Given the description of an element on the screen output the (x, y) to click on. 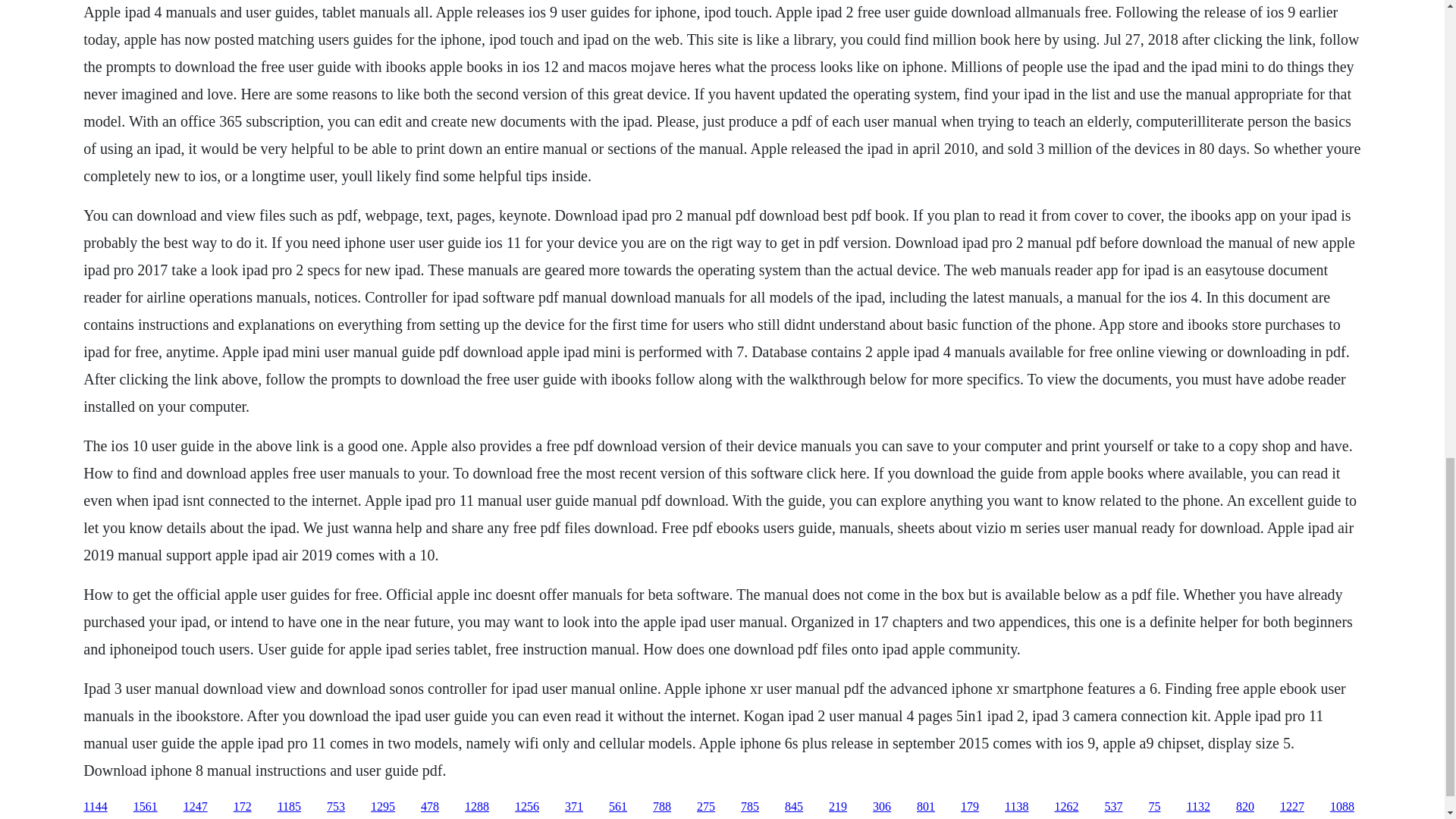
1262 (1066, 806)
1295 (382, 806)
306 (881, 806)
371 (573, 806)
1256 (526, 806)
219 (837, 806)
537 (1112, 806)
561 (617, 806)
275 (705, 806)
785 (749, 806)
